Given the description of an element on the screen output the (x, y) to click on. 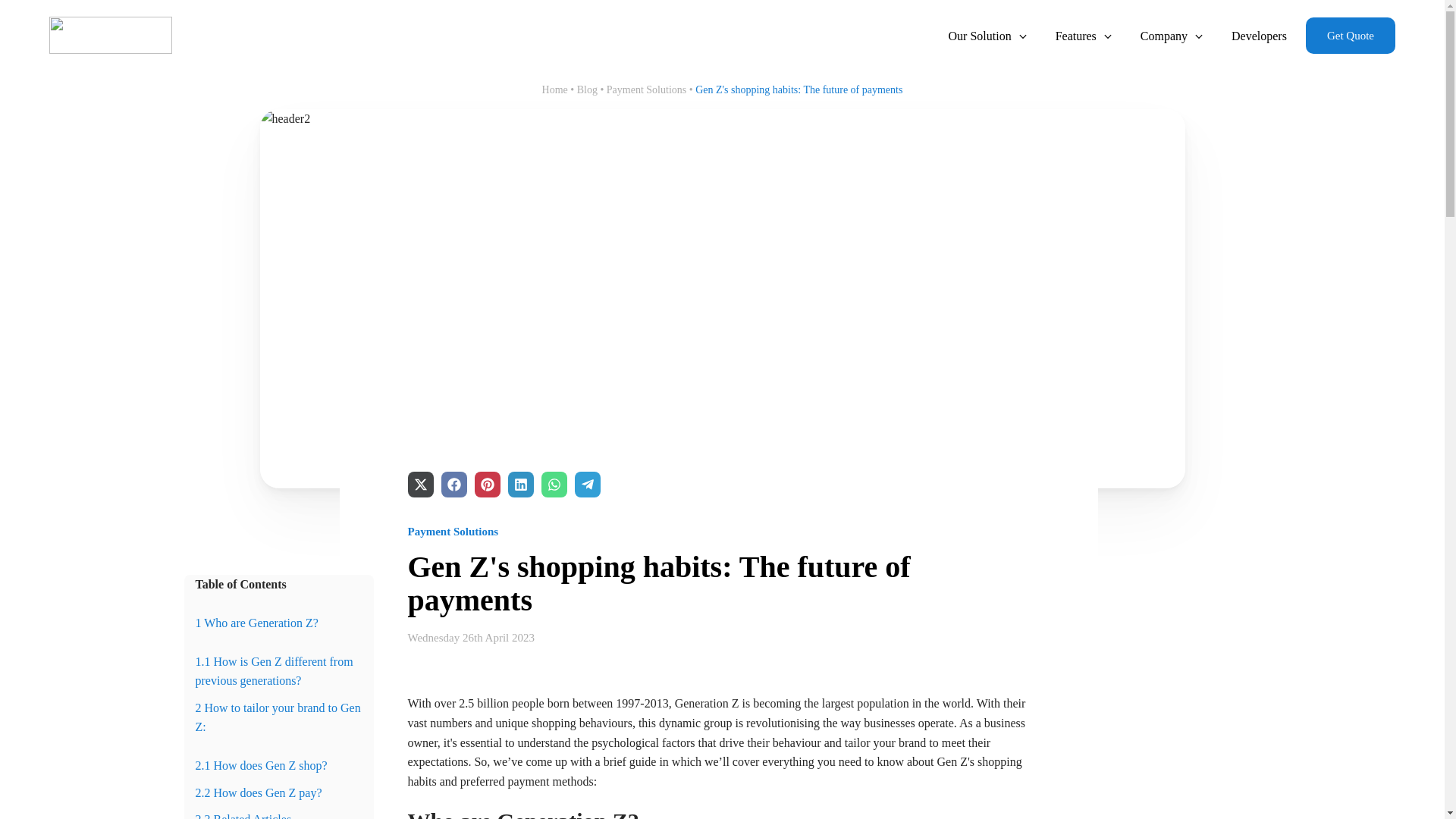
Features (1084, 35)
Developers (1259, 35)
Share on LinkedIn (521, 484)
1.1 How is Gen Z different from previous generations? (274, 671)
Home (554, 89)
2.2 How does Gen Z pay? (258, 792)
Share on Pinterest (487, 484)
Get Quote (1350, 34)
Payment Solutions (646, 89)
Share on WhatsApp (554, 484)
Company (1172, 35)
Blog (586, 89)
1 Who are Generation Z? (256, 622)
2.3 Related Articles (243, 816)
Share on Facebook (454, 484)
